Given the description of an element on the screen output the (x, y) to click on. 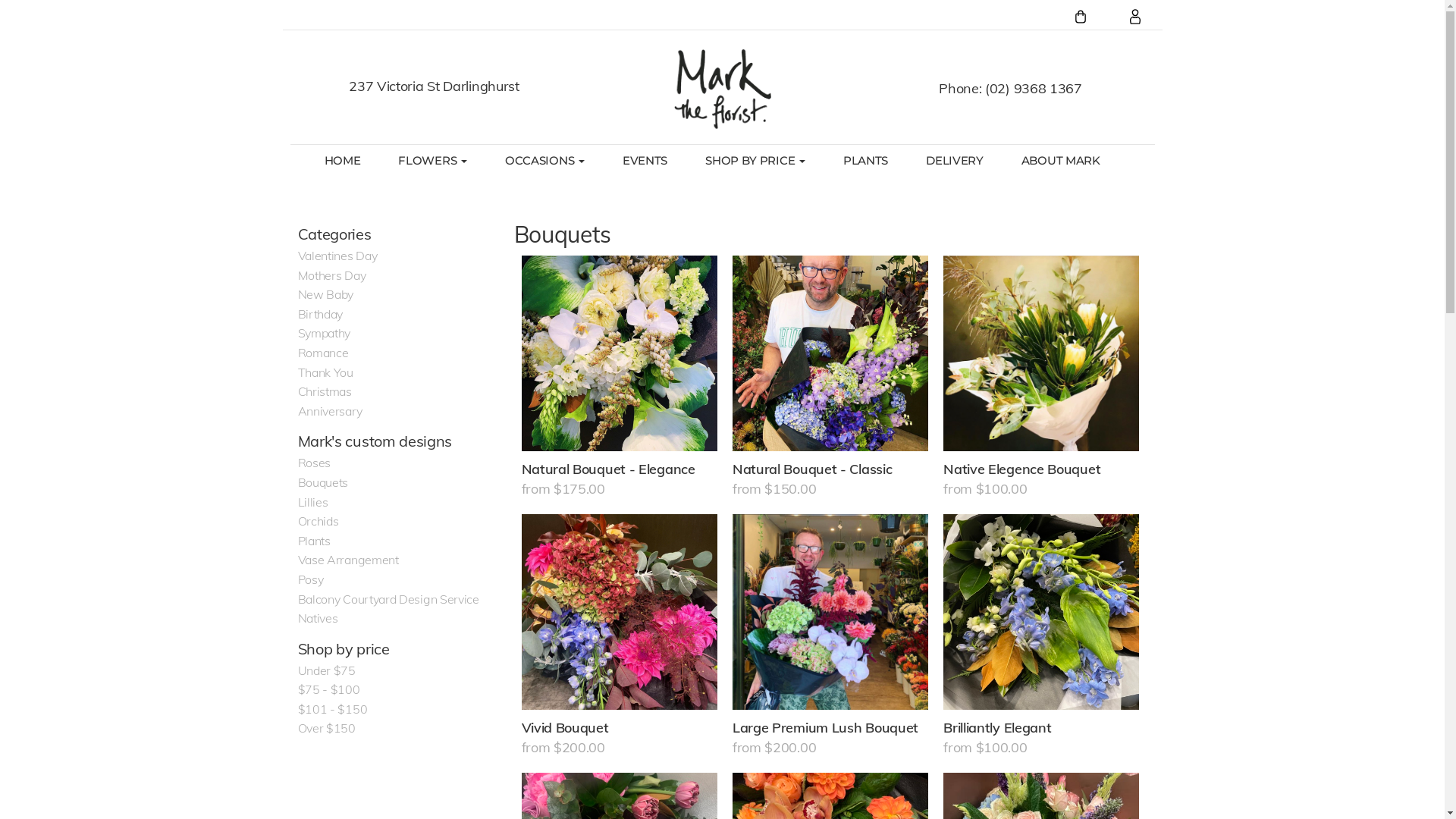
Thank You Element type: text (324, 371)
FLOWERS Element type: text (432, 160)
Bouquets Element type: text (322, 481)
PLANTS Element type: text (865, 160)
Lillies Element type: text (312, 501)
DELIVERY Element type: text (954, 160)
Plants Element type: text (313, 540)
Brilliantly Elegant Element type: hover (1041, 611)
$101 - $150 Element type: text (332, 708)
Vivid Bouquet Element type: hover (619, 611)
HOME Element type: text (341, 160)
EVENTS Element type: text (644, 160)
Native Elegence Bouquet Element type: hover (1041, 353)
Romance Element type: text (322, 352)
Roses Element type: text (313, 462)
Under $75 Element type: text (325, 669)
Natural Bouquet - Classic Element type: hover (830, 353)
Posy Element type: text (310, 578)
Christmas Element type: text (324, 390)
Valentines Day Element type: text (336, 255)
Birthday Element type: text (319, 313)
Mark's custom designs Element type: text (374, 440)
Anniversary Element type: text (329, 410)
Mothers Day Element type: text (331, 274)
Over $150 Element type: text (325, 727)
OCCASIONS Element type: text (544, 160)
Natural Bouquet - Elegance Element type: hover (619, 353)
Shop by price Element type: text (343, 648)
Sympathy Element type: text (323, 332)
Natives Element type: text (317, 617)
$75 - $100 Element type: text (328, 688)
Large Premium Lush Bouquet Element type: hover (830, 611)
Orchids Element type: text (317, 520)
Balcony Courtyard Design Service Element type: text (387, 598)
ABOUT MARK Element type: text (1060, 160)
New Baby Element type: text (325, 293)
Vase Arrangement Element type: text (347, 559)
SHOP BY PRICE Element type: text (755, 160)
Categories Element type: text (333, 233)
